Given the description of an element on the screen output the (x, y) to click on. 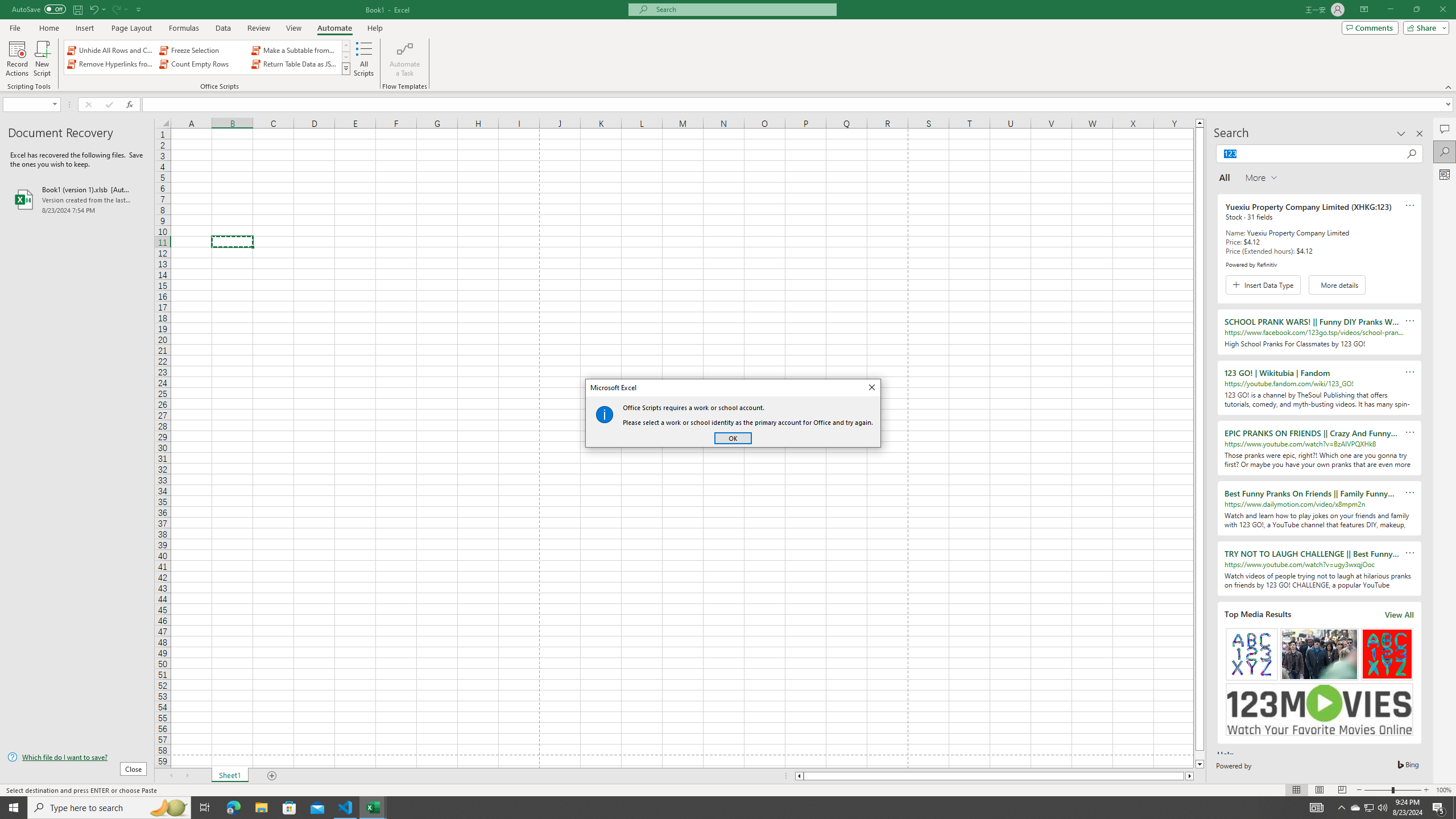
Microsoft Edge (233, 807)
Automate a Task (404, 58)
Running applications (1368, 807)
